Given the description of an element on the screen output the (x, y) to click on. 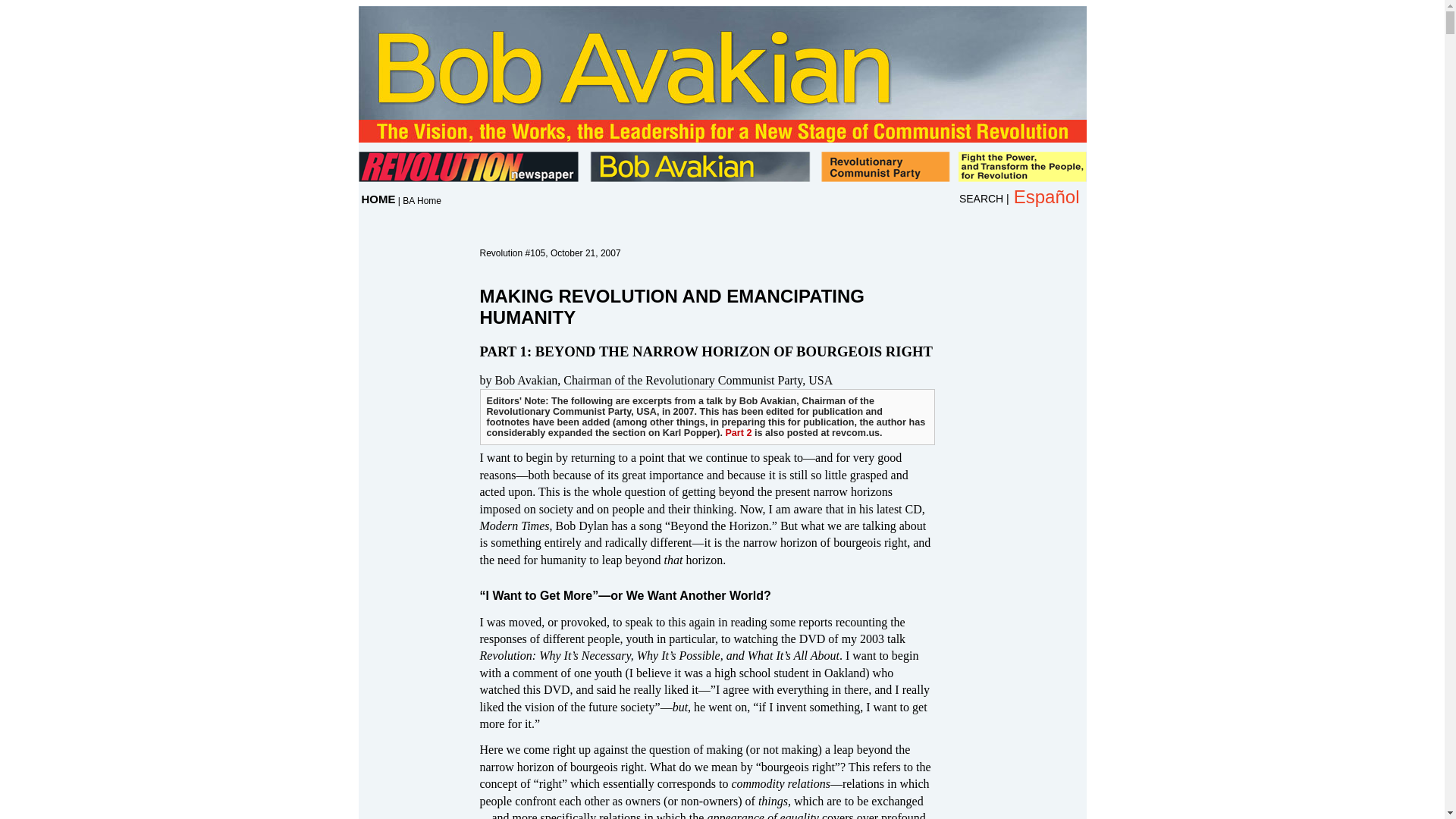
SEARCH (981, 198)
BA Home (422, 200)
Part 2 (738, 432)
HOME (377, 198)
